Given the description of an element on the screen output the (x, y) to click on. 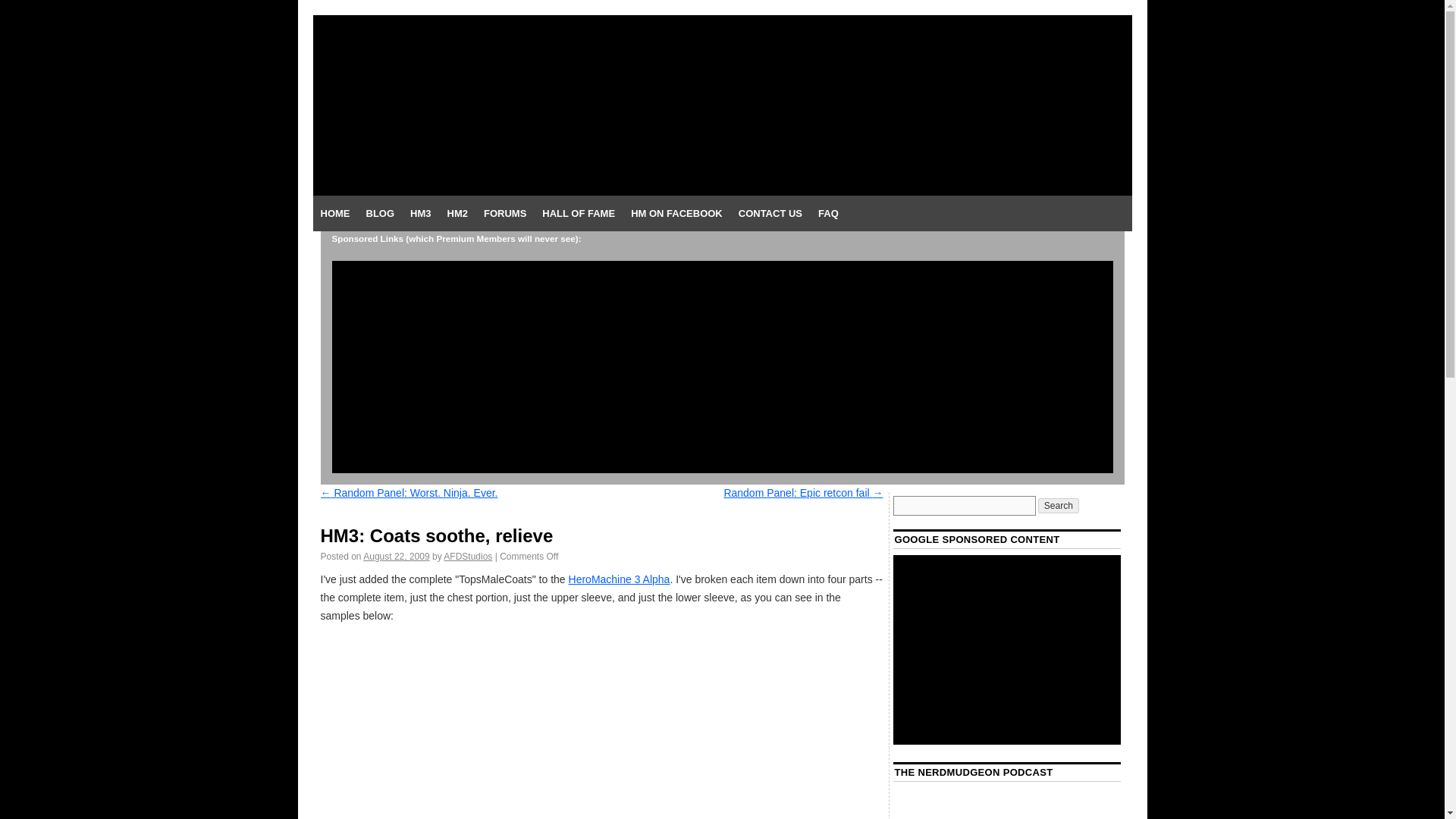
Search (1058, 505)
HALL OF FAME (578, 213)
HOME (334, 213)
HM3 (420, 213)
FAQ (827, 213)
tops-coats (601, 730)
HM ON FACEBOOK (676, 213)
10:03 am (395, 556)
Search (1058, 505)
HM2 (457, 213)
